Given the description of an element on the screen output the (x, y) to click on. 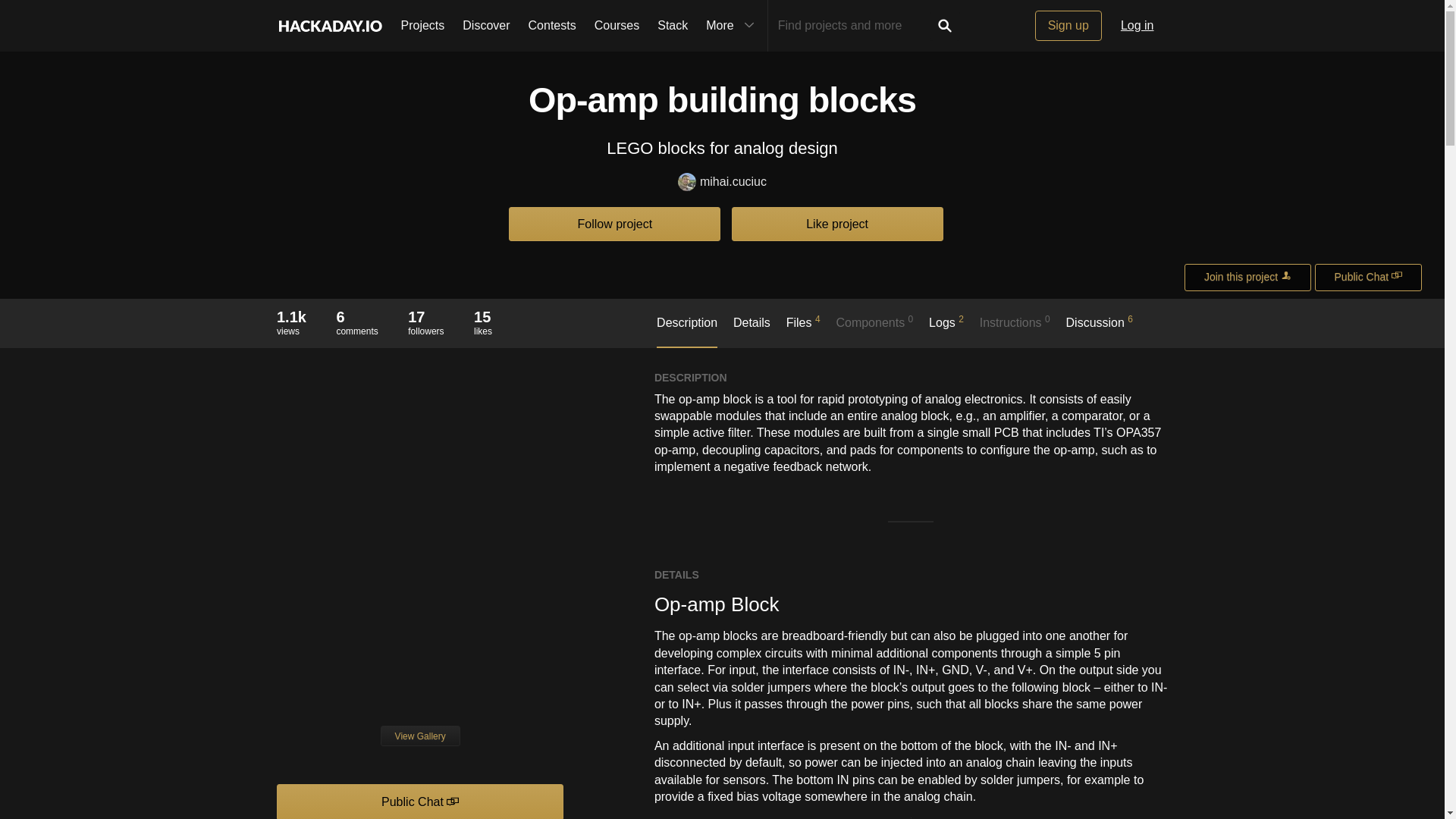
Sign up (1068, 25)
View Count (425, 322)
More (290, 316)
Projects (732, 25)
Discussion 6 (421, 25)
Description (1099, 329)
Comments (686, 331)
Description (356, 316)
Followers (686, 331)
Join this project (425, 316)
Courses (1248, 277)
Log in (617, 25)
Contests (1137, 25)
mihai.cuciuc (552, 25)
